Given the description of an element on the screen output the (x, y) to click on. 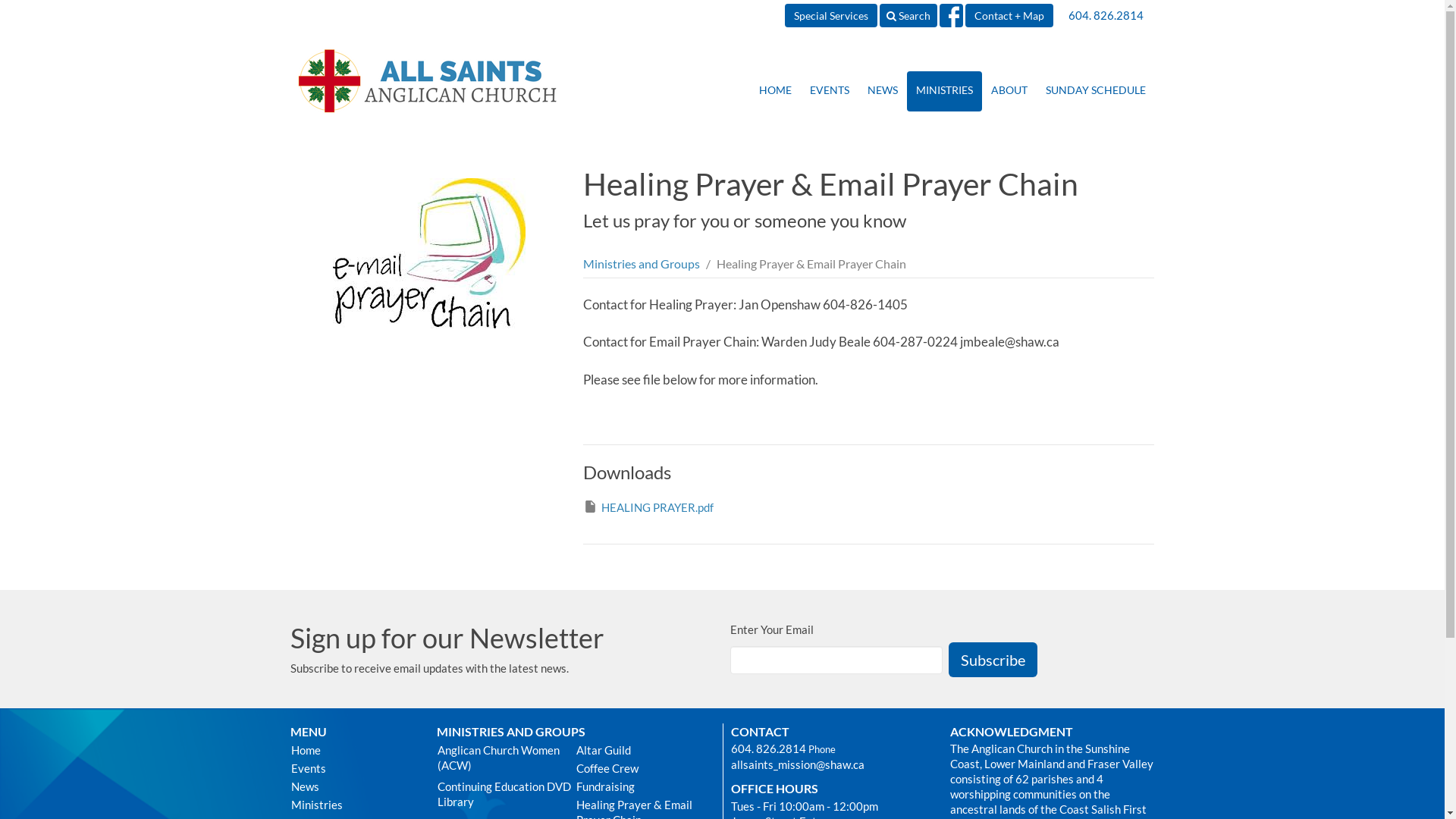
604. 826.2814 Element type: text (1104, 15)
ABOUT Element type: text (1008, 91)
Fundraising Element type: text (644, 786)
News Element type: text (354, 786)
Continuing Education DVD Library Element type: text (505, 793)
allsaints_mission@shaw.ca Element type: text (797, 764)
Subscribe Element type: text (991, 659)
Ministries Element type: text (354, 804)
Contact + Map Element type: text (1008, 15)
Anglican Church Women (ACW) Element type: text (505, 757)
EVENTS Element type: text (829, 91)
MINISTRIES Element type: text (944, 91)
HEALING PRAYER.pdf Element type: text (648, 507)
Home Element type: text (354, 749)
Ministries and Groups Element type: text (641, 263)
HOME Element type: text (774, 91)
NEWS Element type: text (882, 91)
Search Element type: text (908, 15)
Events Element type: text (354, 768)
SUNDAY SCHEDULE Element type: text (1094, 91)
Altar Guild Element type: text (644, 749)
Coffee Crew Element type: text (644, 768)
MINISTRIES AND GROUPS Element type: text (510, 731)
604. 826.2814 Element type: text (768, 748)
Special Services Element type: text (830, 15)
